Given the description of an element on the screen output the (x, y) to click on. 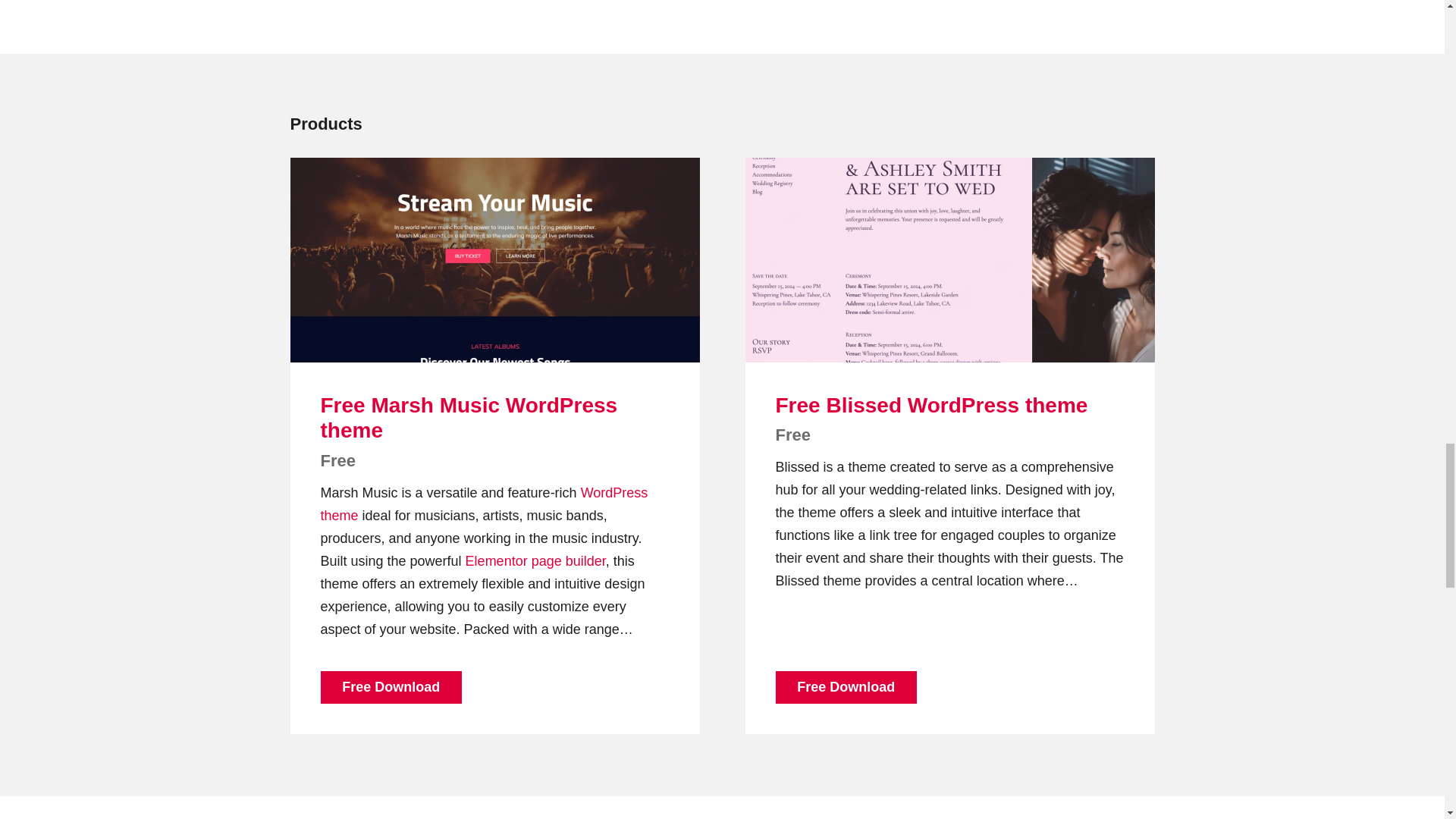
Continue reading Free Marsh Music WordPress theme (493, 260)
Free Download (390, 686)
Wordpress themes (483, 504)
Continue reading Free Blissed WordPress theme (949, 260)
Get Elementor (496, 560)
page builder (568, 560)
build your website (568, 560)
Free Marsh Music WordPress theme (468, 418)
WordPress theme (483, 504)
Elementor (496, 560)
